Given the description of an element on the screen output the (x, y) to click on. 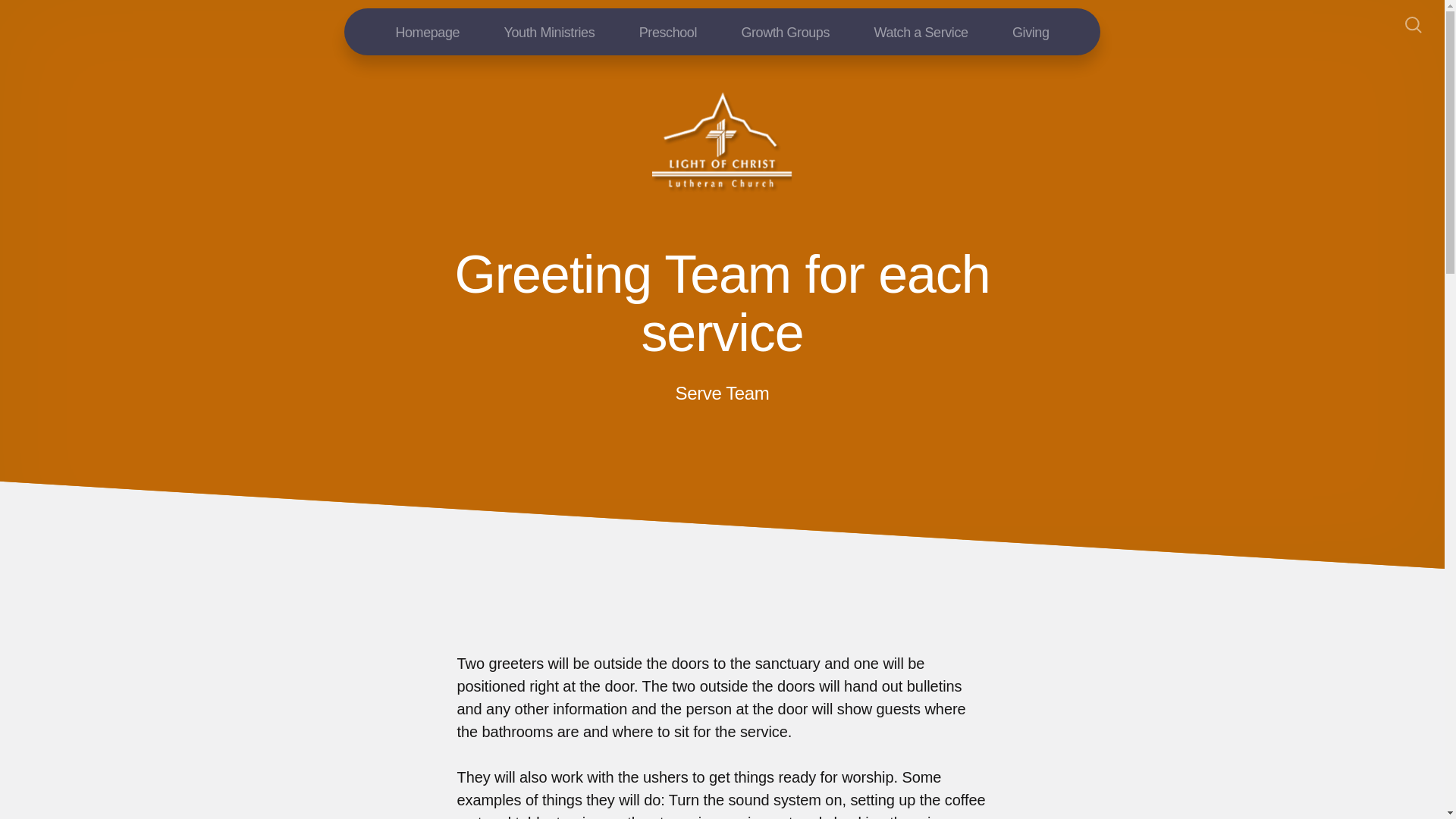
Growth Groups (785, 31)
Watch a Service (920, 31)
Giving (1030, 31)
Youth Ministries (549, 31)
Homepage (427, 31)
Preschool (667, 31)
